Given the description of an element on the screen output the (x, y) to click on. 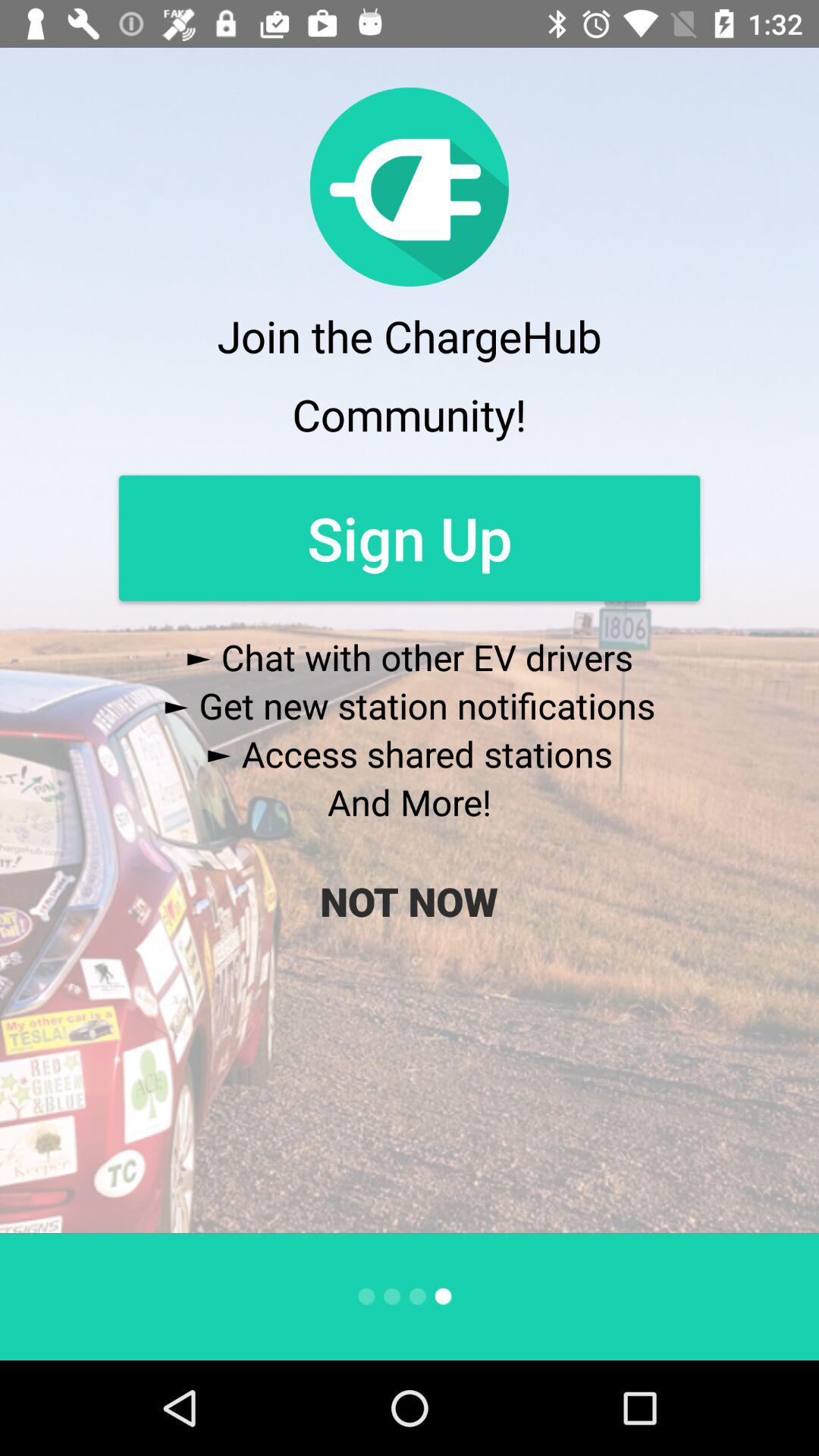
select item above the chat with other item (409, 538)
